Given the description of an element on the screen output the (x, y) to click on. 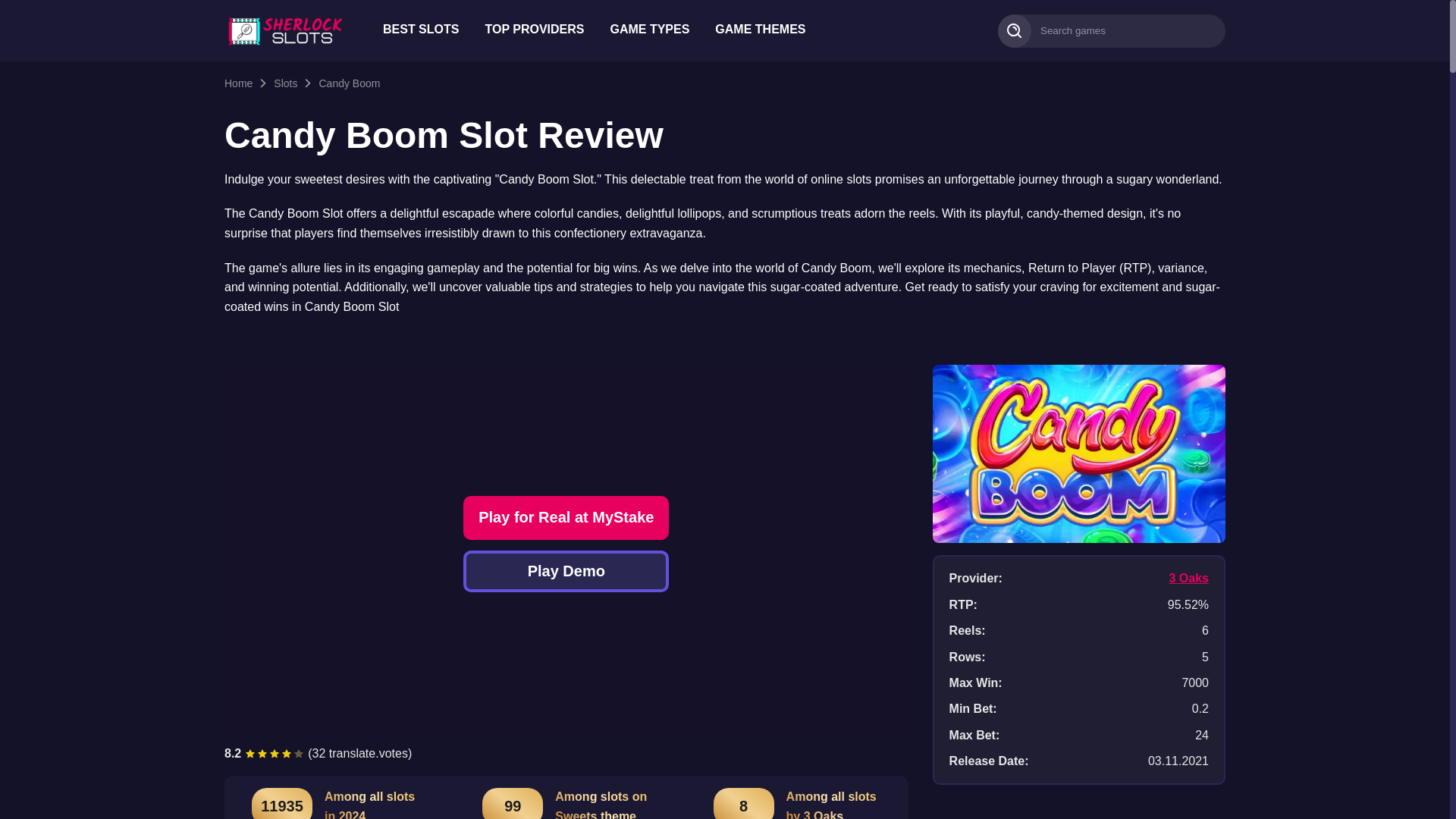
Play Demo (565, 571)
Home (237, 82)
Play for Real at MyStake (565, 517)
3 Oaks (1188, 577)
Slots (285, 82)
